Given the description of an element on the screen output the (x, y) to click on. 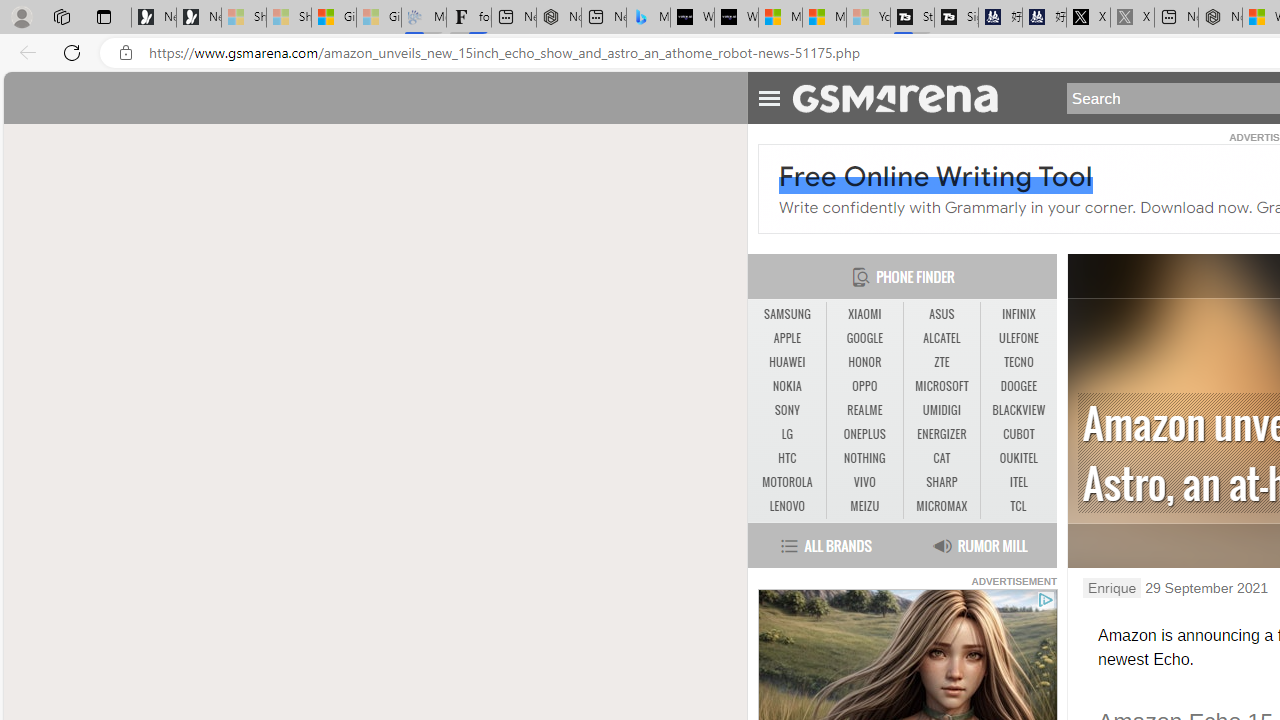
GOOGLE (863, 338)
OUKITEL (1018, 458)
ALCATEL (941, 339)
TCL (1018, 506)
REALME (864, 411)
ULEFONE (1018, 339)
SAMSUNG (786, 314)
LG (786, 434)
MEIZU (863, 506)
Free Online Writing Tool (936, 176)
